Given the description of an element on the screen output the (x, y) to click on. 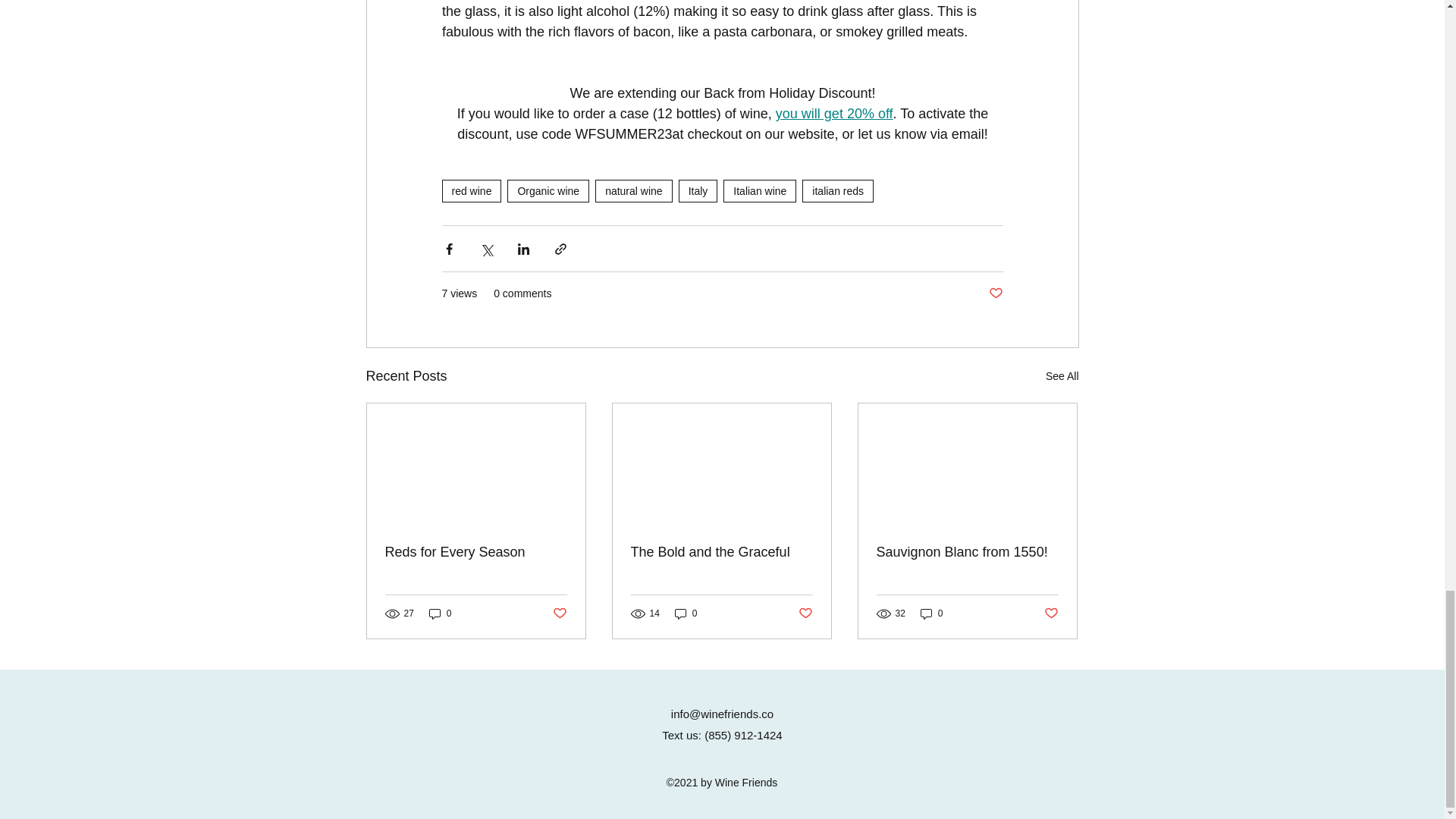
Post not marked as liked (558, 612)
0 (440, 613)
Organic wine (547, 190)
natural wine (633, 190)
Italy (697, 190)
Post not marked as liked (995, 293)
red wine (470, 190)
italian reds (837, 190)
See All (1061, 376)
The Bold and the Graceful (721, 552)
Italian wine (759, 190)
Reds for Every Season (476, 552)
0 (685, 613)
Post not marked as liked (804, 612)
